Given the description of an element on the screen output the (x, y) to click on. 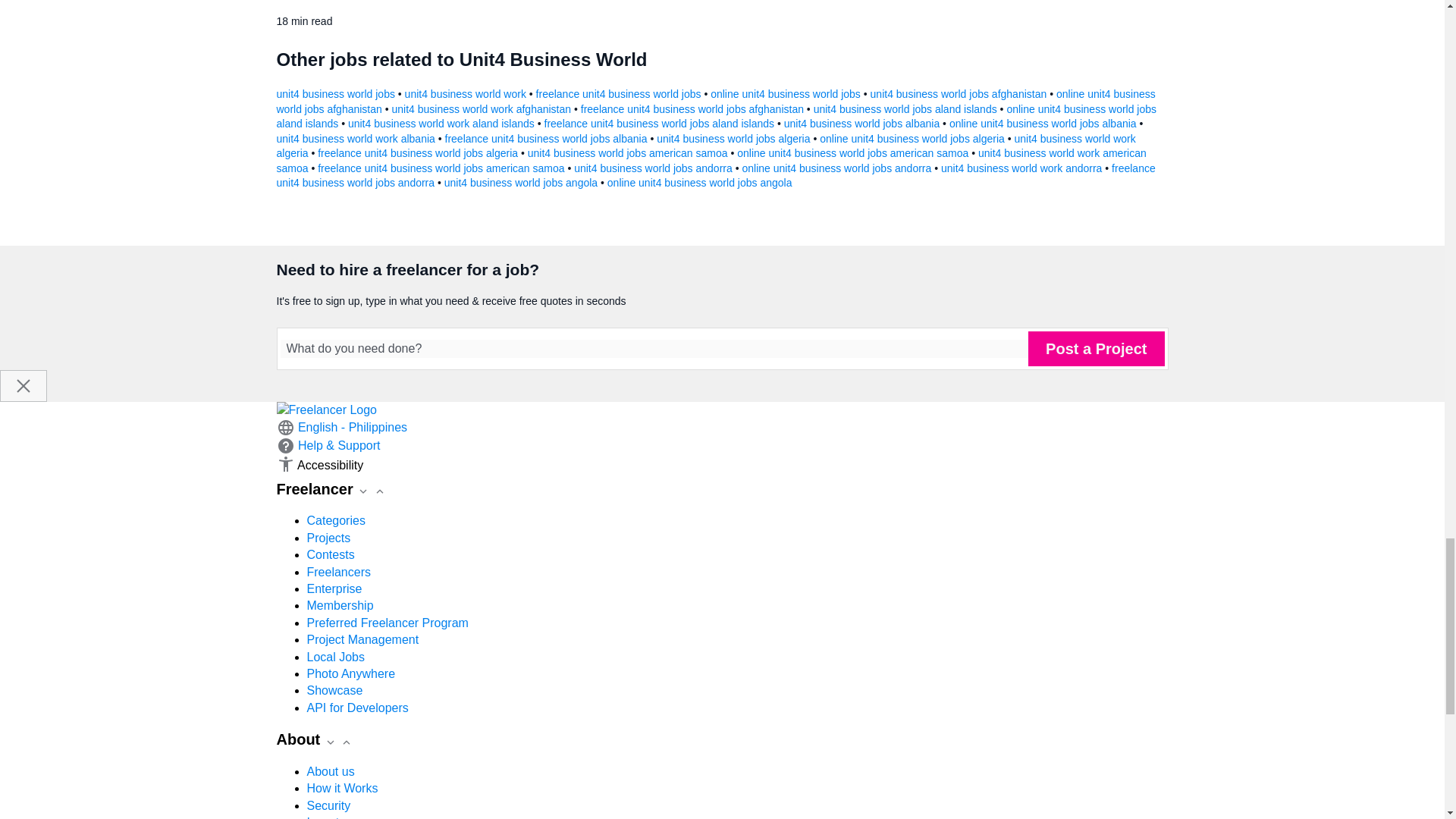
unit4 business world jobs (336, 93)
online unit4 business world jobs afghanistan (715, 101)
online unit4 business world jobs (786, 93)
unit4 business world work (466, 93)
freelance unit4 business world jobs (619, 93)
unit4 business world jobs afghanistan (959, 93)
